Given the description of an element on the screen output the (x, y) to click on. 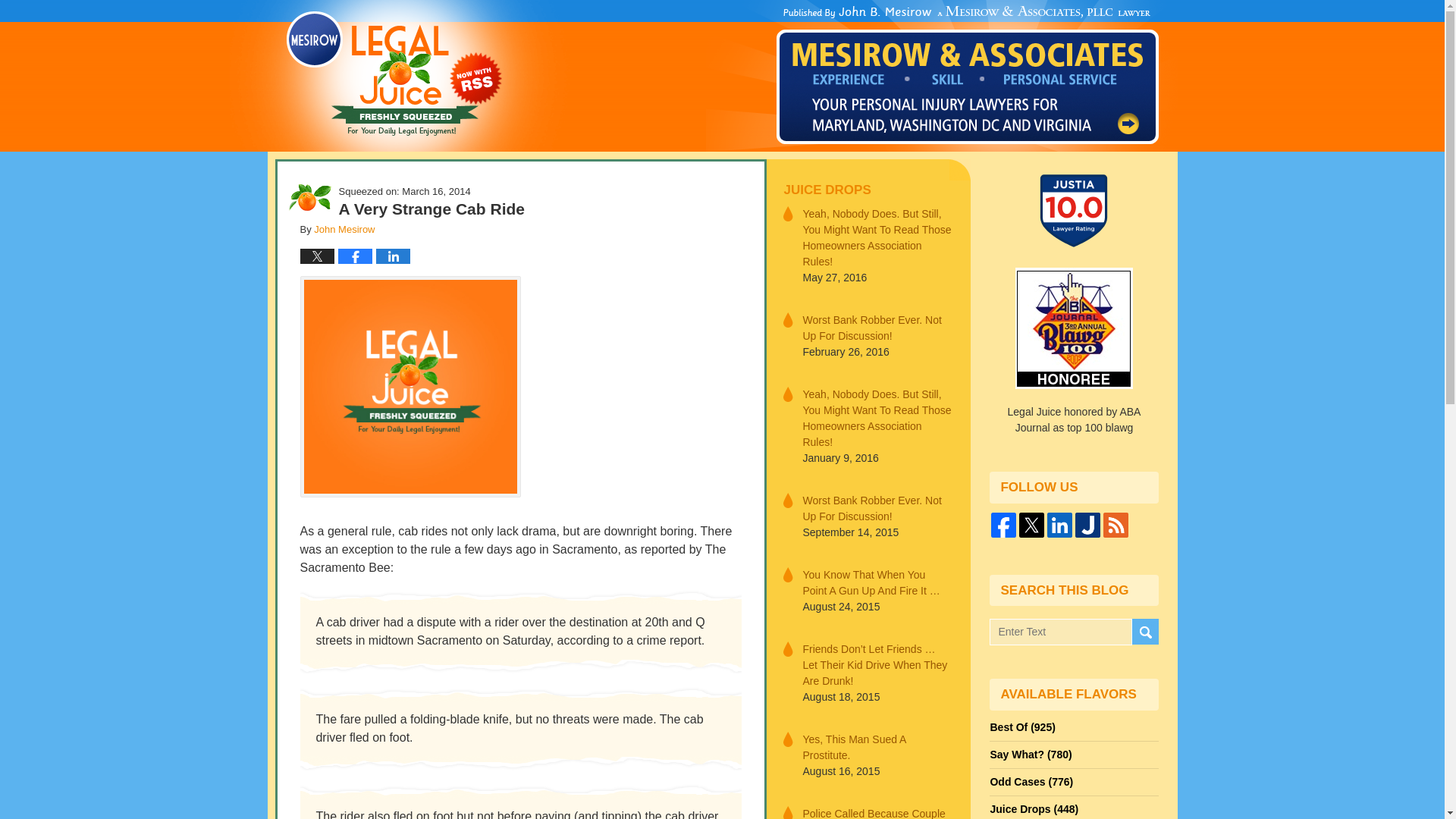
SEARCH (1144, 632)
LinkedIn (1059, 524)
Feed (1115, 524)
Legal Juice (394, 73)
Worst Bank Robber Ever. Not Up For Discussion! (877, 508)
John Mesirow (344, 229)
Justia (1088, 524)
Facebook (1003, 524)
Worst Bank Robber Ever. Not Up For Discussion! (877, 327)
Yes, This Man Sued A Prostitute. (877, 746)
JUICE DROPS (867, 189)
Twitter (1031, 524)
